Given the description of an element on the screen output the (x, y) to click on. 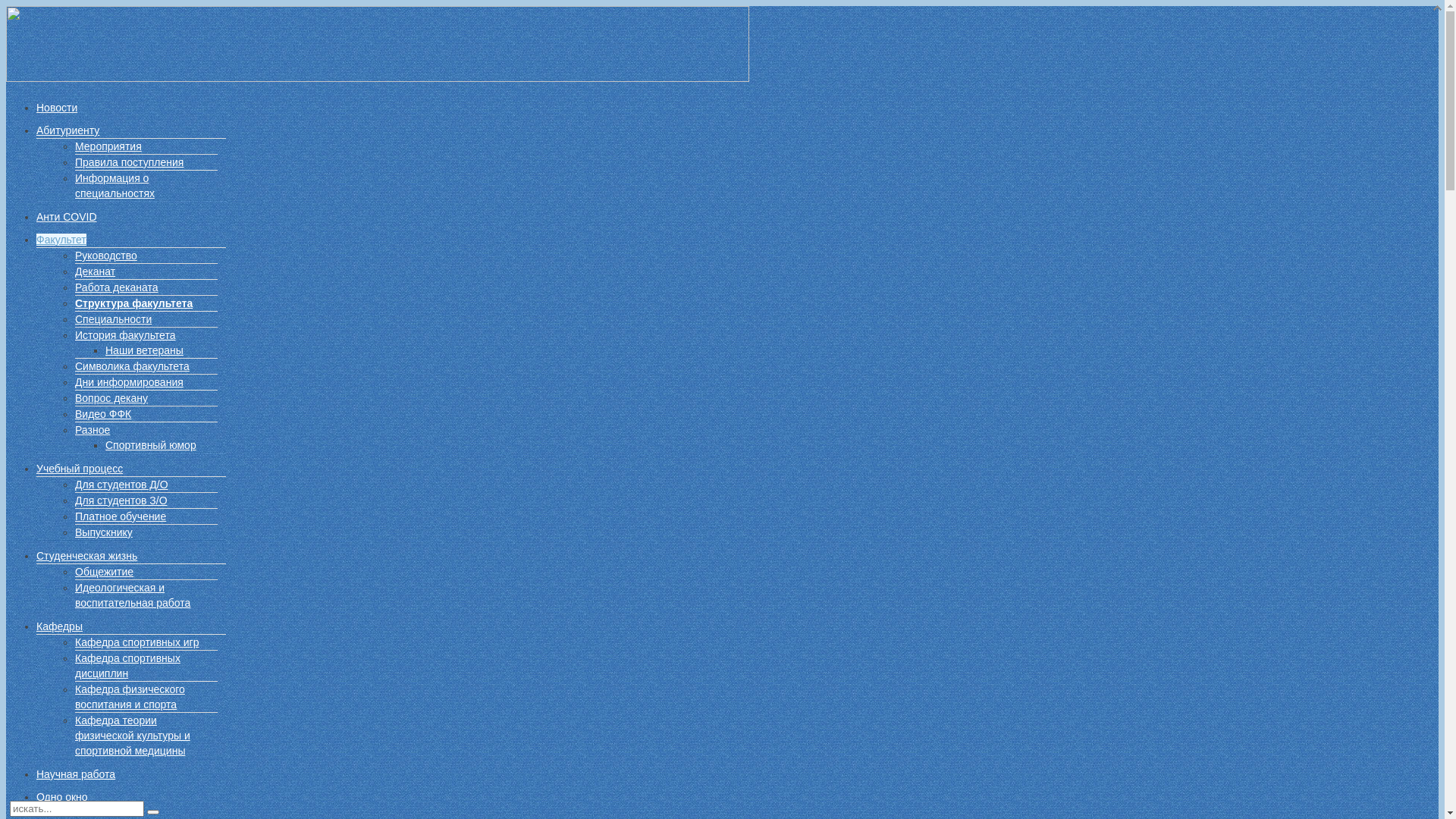
Reset Element type: text (153, 811)
